Given the description of an element on the screen output the (x, y) to click on. 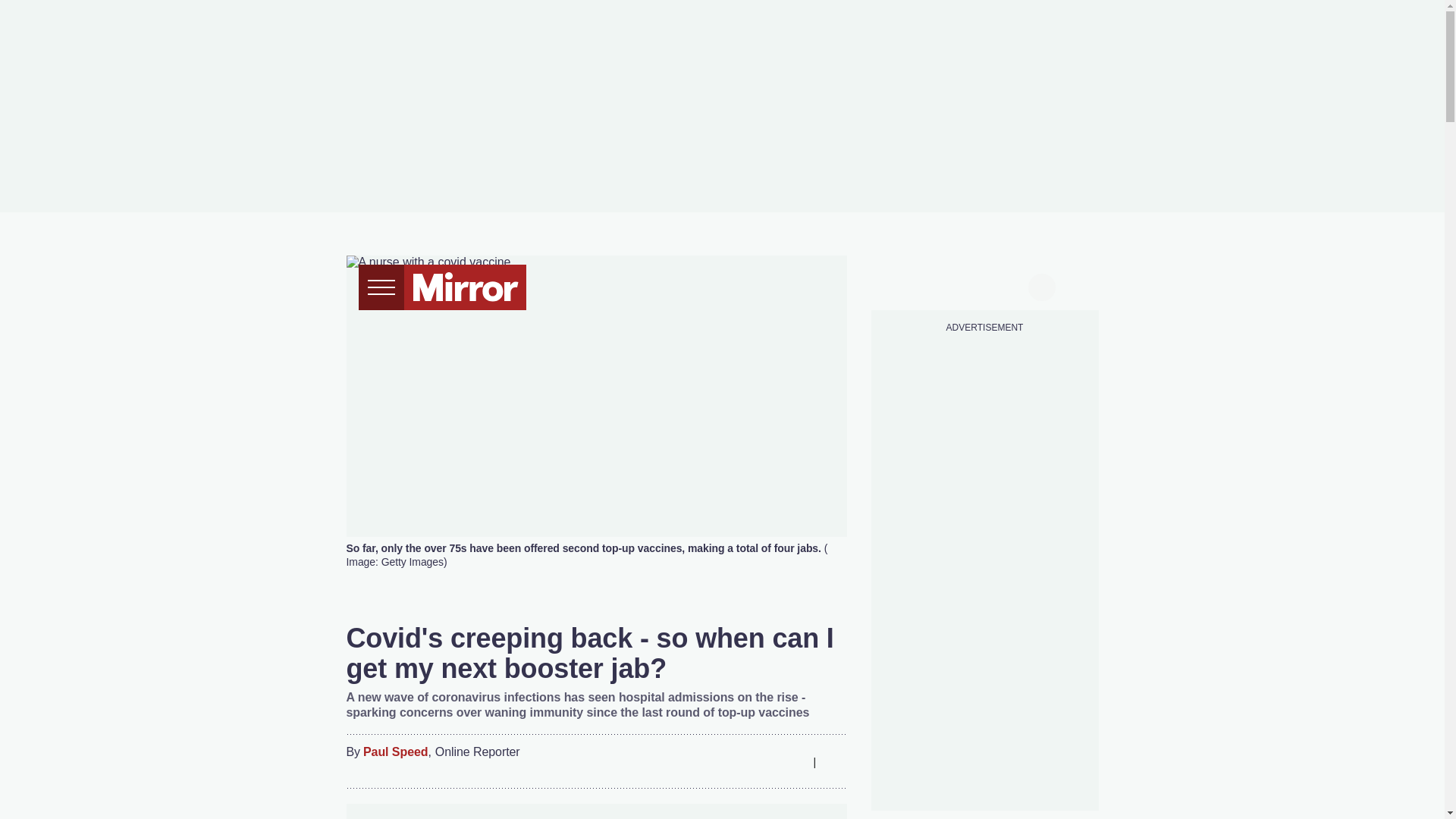
twitter (926, 285)
Whatsapp (763, 762)
instagram (984, 285)
facebook (897, 285)
Facebook (702, 762)
Paul Speed (395, 752)
Comments (834, 762)
snapchat (1012, 285)
tiktok (955, 285)
Twitter (733, 762)
